Given the description of an element on the screen output the (x, y) to click on. 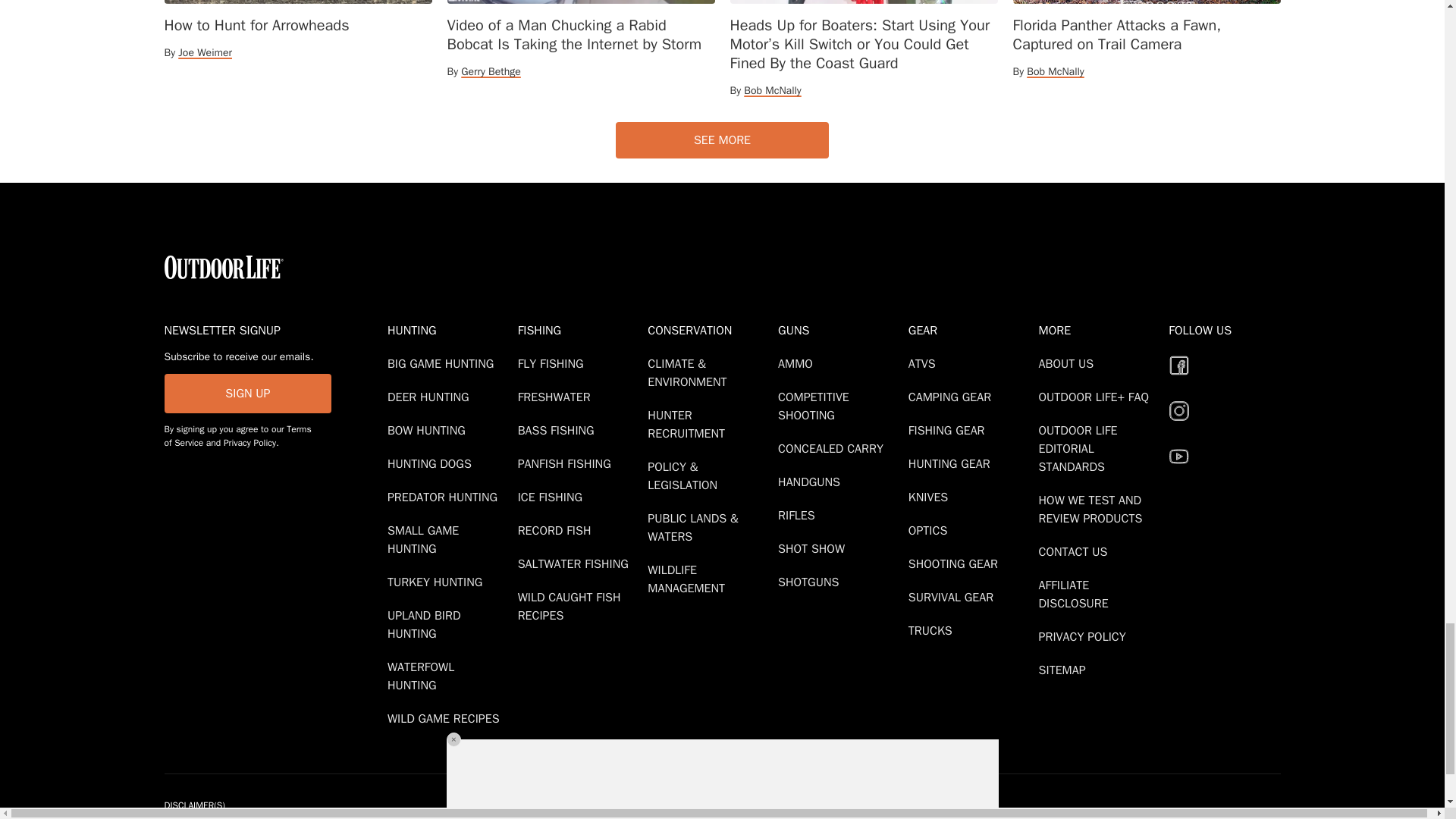
Hunting (449, 330)
Big Game Hunting (443, 363)
